Given the description of an element on the screen output the (x, y) to click on. 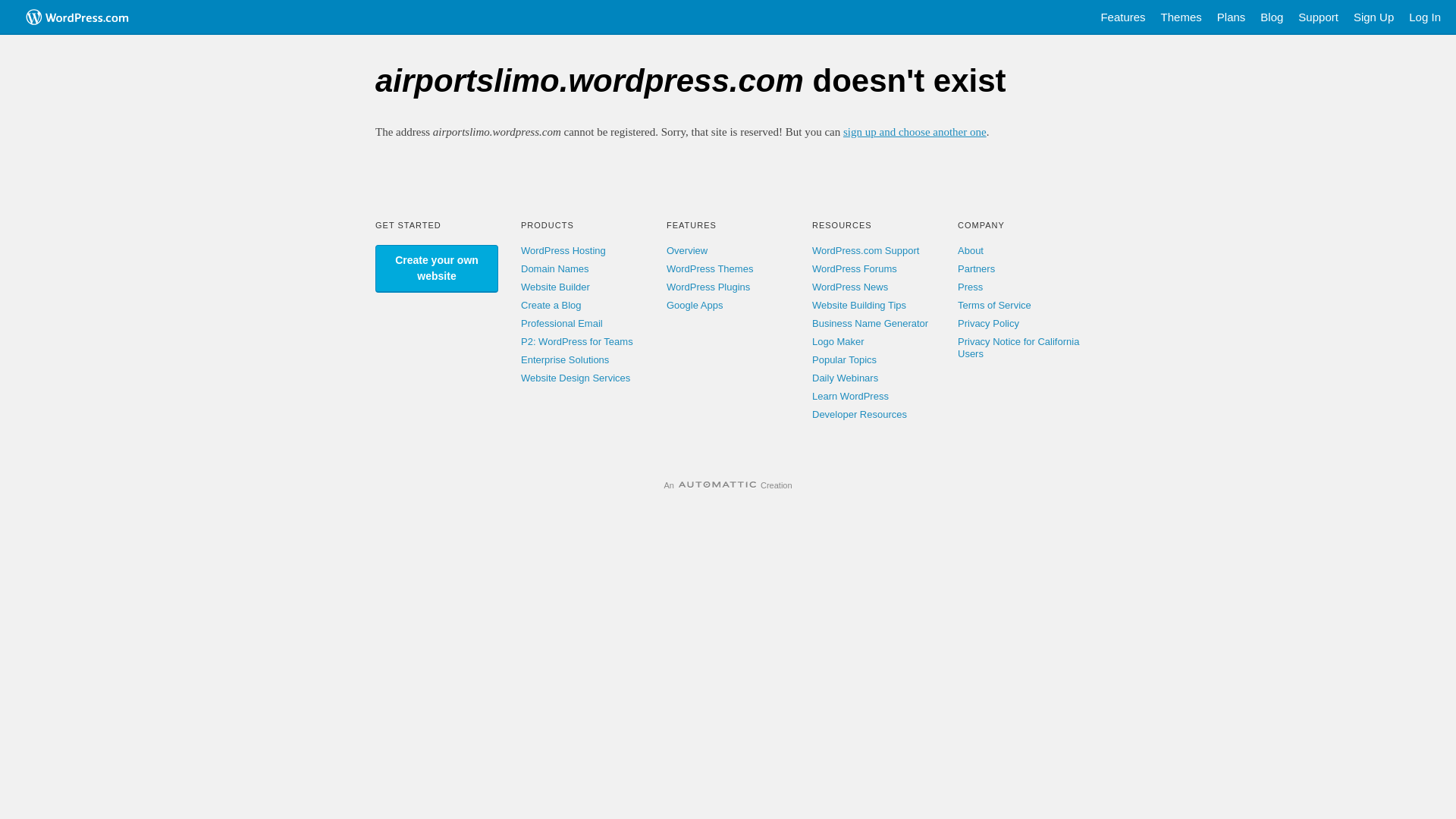
Create your own website Element type: text (436, 268)
Website Builder Element type: text (554, 286)
Themes Element type: text (1181, 17)
Sign Up Element type: text (1373, 17)
WordPress News Element type: text (850, 286)
Partners Element type: text (975, 268)
Log In Element type: text (1424, 17)
Business Name Generator Element type: text (870, 323)
About Element type: text (970, 250)
Press Element type: text (969, 286)
Features Element type: text (1122, 17)
Daily Webinars Element type: text (845, 377)
Learn WordPress Element type: text (850, 395)
sign up and choose another one Element type: text (914, 131)
Website Building Tips Element type: text (859, 304)
Support Element type: text (1318, 17)
Enterprise Solutions Element type: text (564, 359)
P2: WordPress for Teams Element type: text (576, 341)
Privacy Policy Element type: text (988, 323)
Plans Element type: text (1231, 17)
Privacy Notice for California Users Element type: text (1018, 347)
WordPress Themes Element type: text (709, 268)
Create a Blog Element type: text (550, 304)
WordPress Hosting Element type: text (562, 250)
Popular Topics Element type: text (844, 359)
Website Design Services Element type: text (575, 377)
WordPress Forums Element type: text (854, 268)
Developer Resources Element type: text (859, 414)
Overview Element type: text (686, 250)
Automattic Element type: text (717, 485)
WordPress.com Support Element type: text (865, 250)
Blog Element type: text (1271, 17)
Google Apps Element type: text (694, 304)
WordPress Plugins Element type: text (707, 286)
Professional Email Element type: text (561, 323)
Logo Maker Element type: text (838, 341)
Domain Names Element type: text (554, 268)
Terms of Service Element type: text (994, 304)
